Given the description of an element on the screen output the (x, y) to click on. 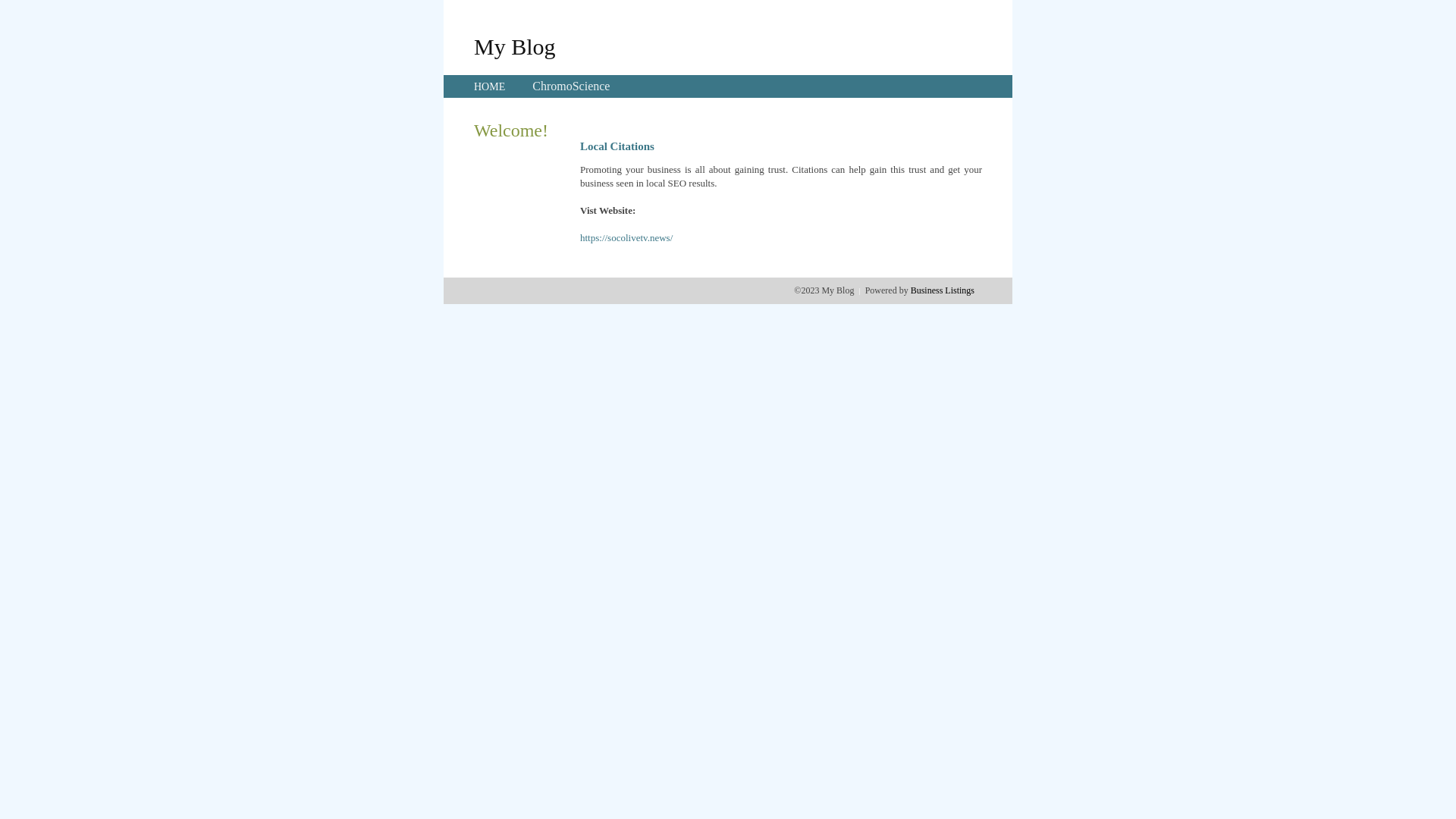
Business Listings Element type: text (942, 290)
My Blog Element type: text (514, 46)
HOME Element type: text (489, 86)
ChromoScience Element type: text (570, 85)
https://socolivetv.news/ Element type: text (626, 237)
